Given the description of an element on the screen output the (x, y) to click on. 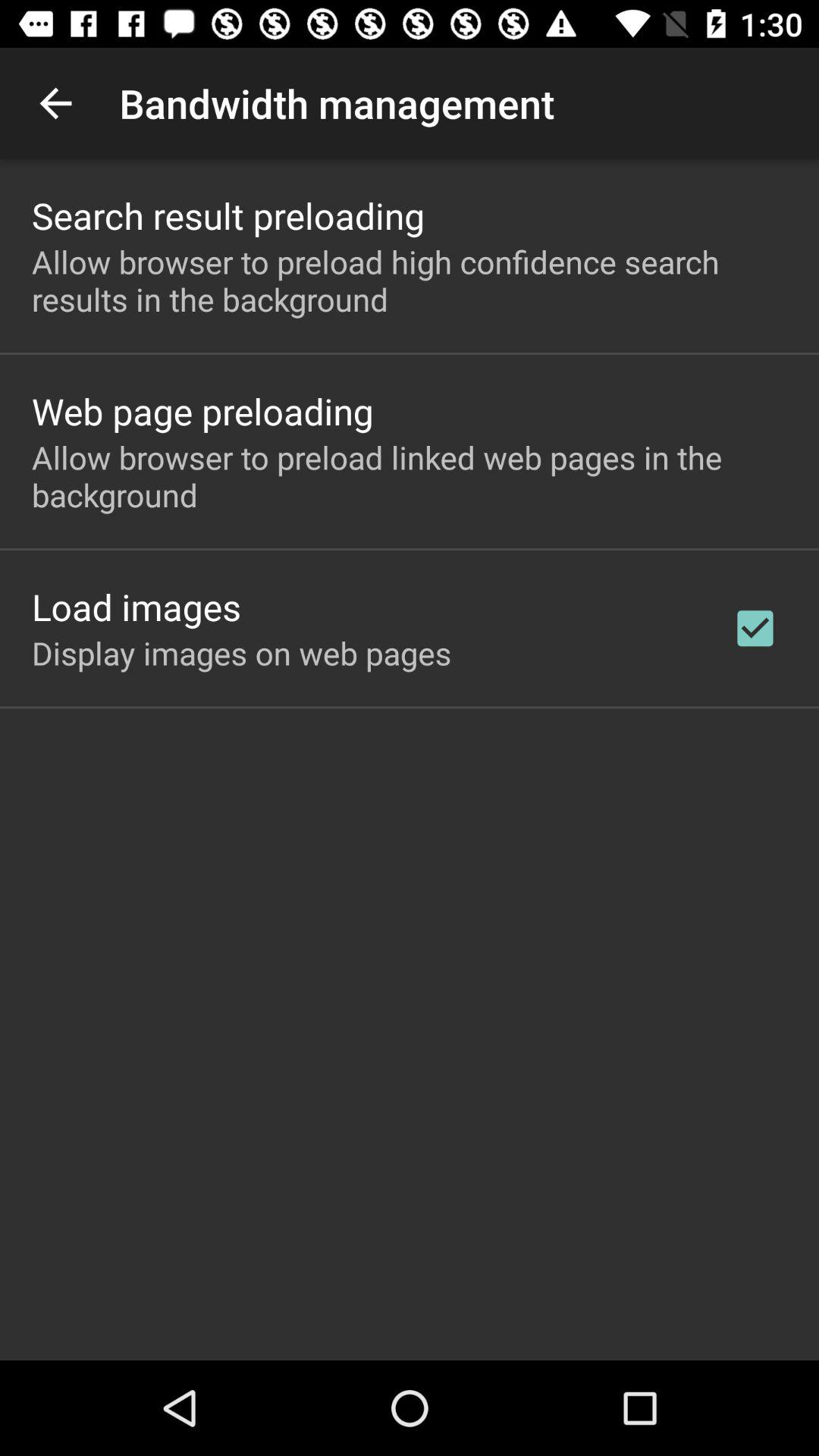
open item next to the display images on icon (755, 628)
